Given the description of an element on the screen output the (x, y) to click on. 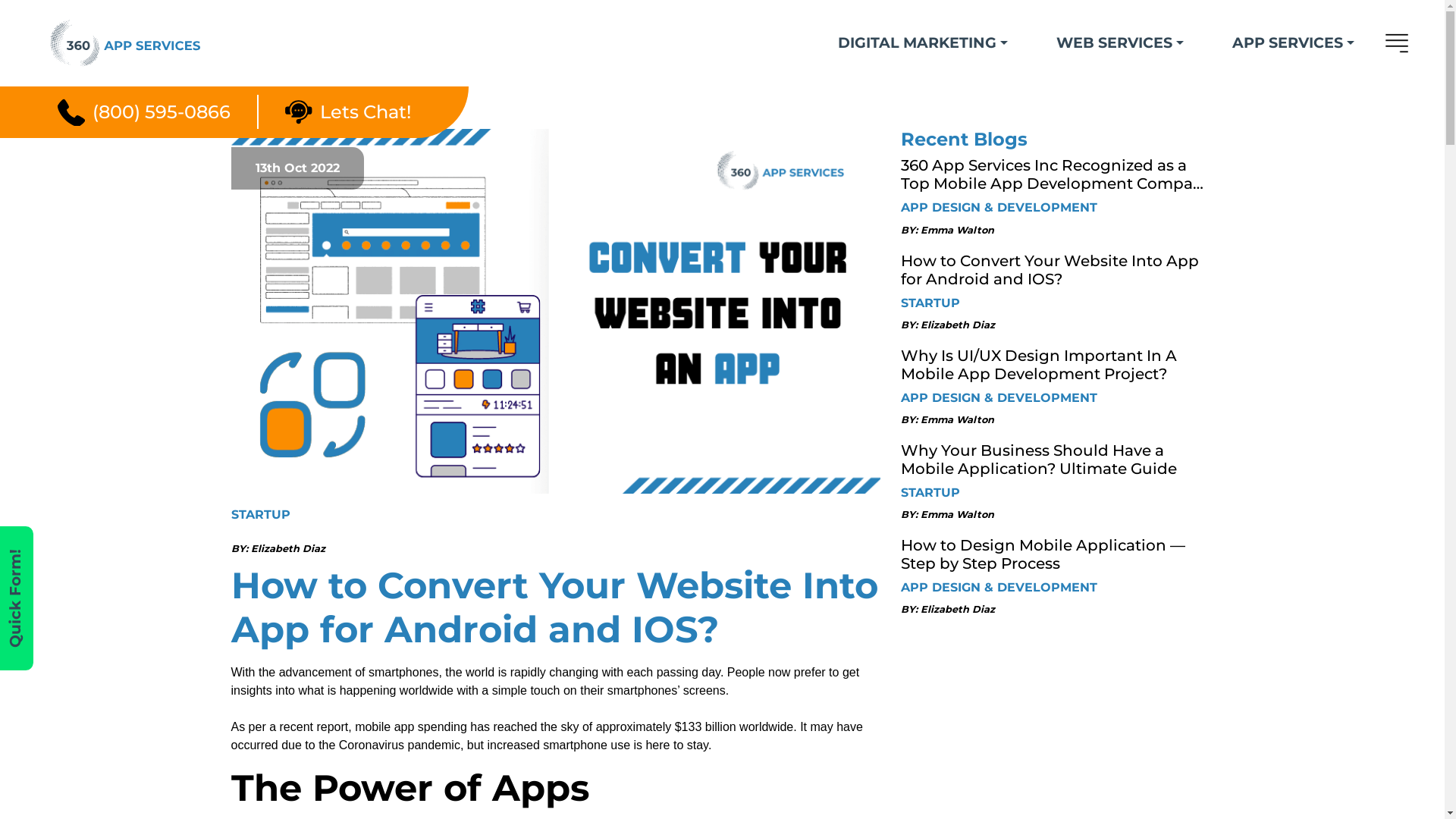
WEB SERVICES Element type: text (1119, 42)
Lets Chat! Element type: text (347, 112)
APP SERVICES Element type: text (1293, 42)
DIGITAL MARKETING Element type: text (922, 42)
(800) 595-0866 Element type: text (143, 112)
How to Convert Your Website Into App for Android and IOS? Element type: hover (554, 310)
